Given the description of an element on the screen output the (x, y) to click on. 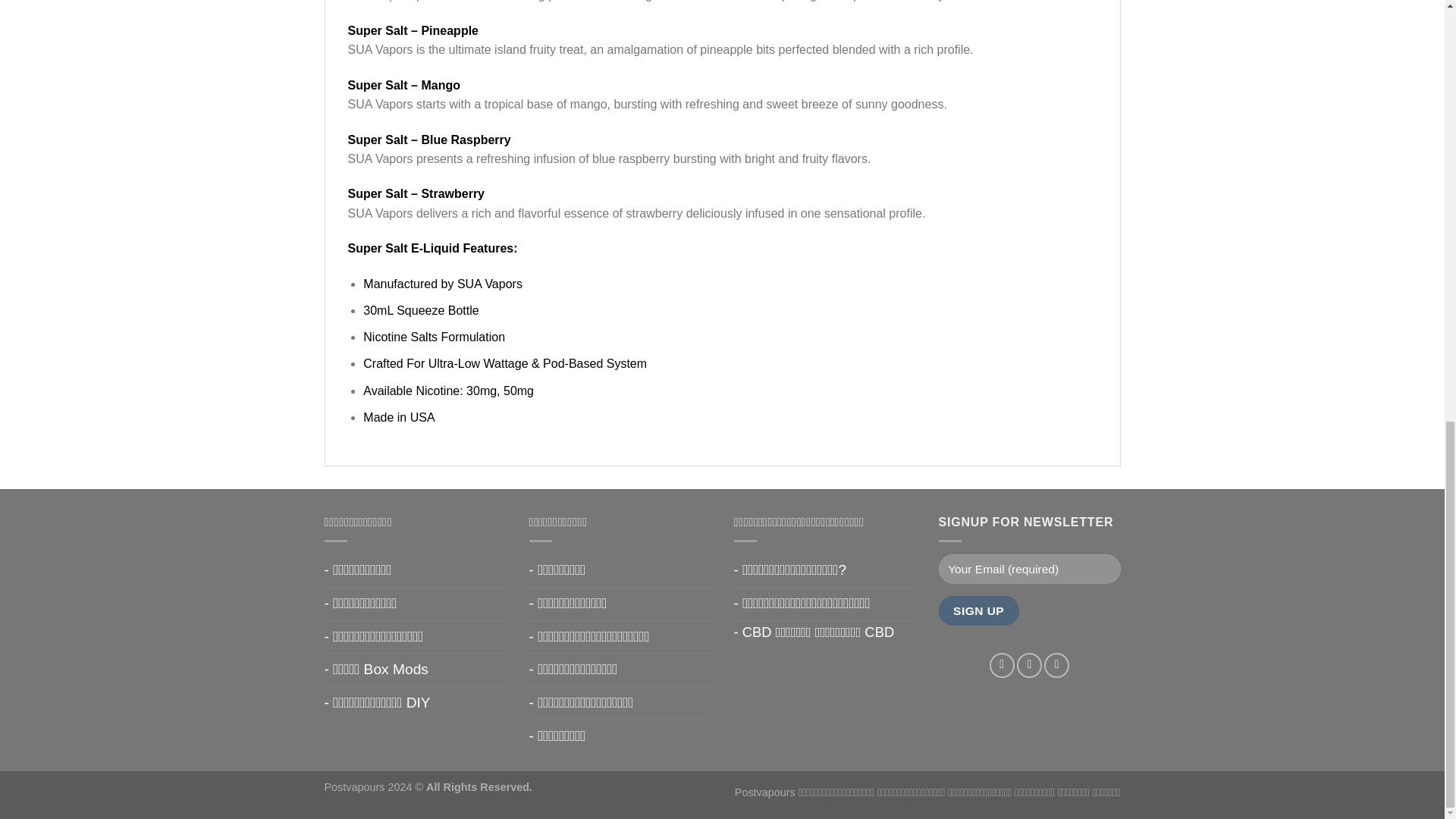
Sign Up (979, 610)
Follow on Facebook (1002, 665)
